Given the description of an element on the screen output the (x, y) to click on. 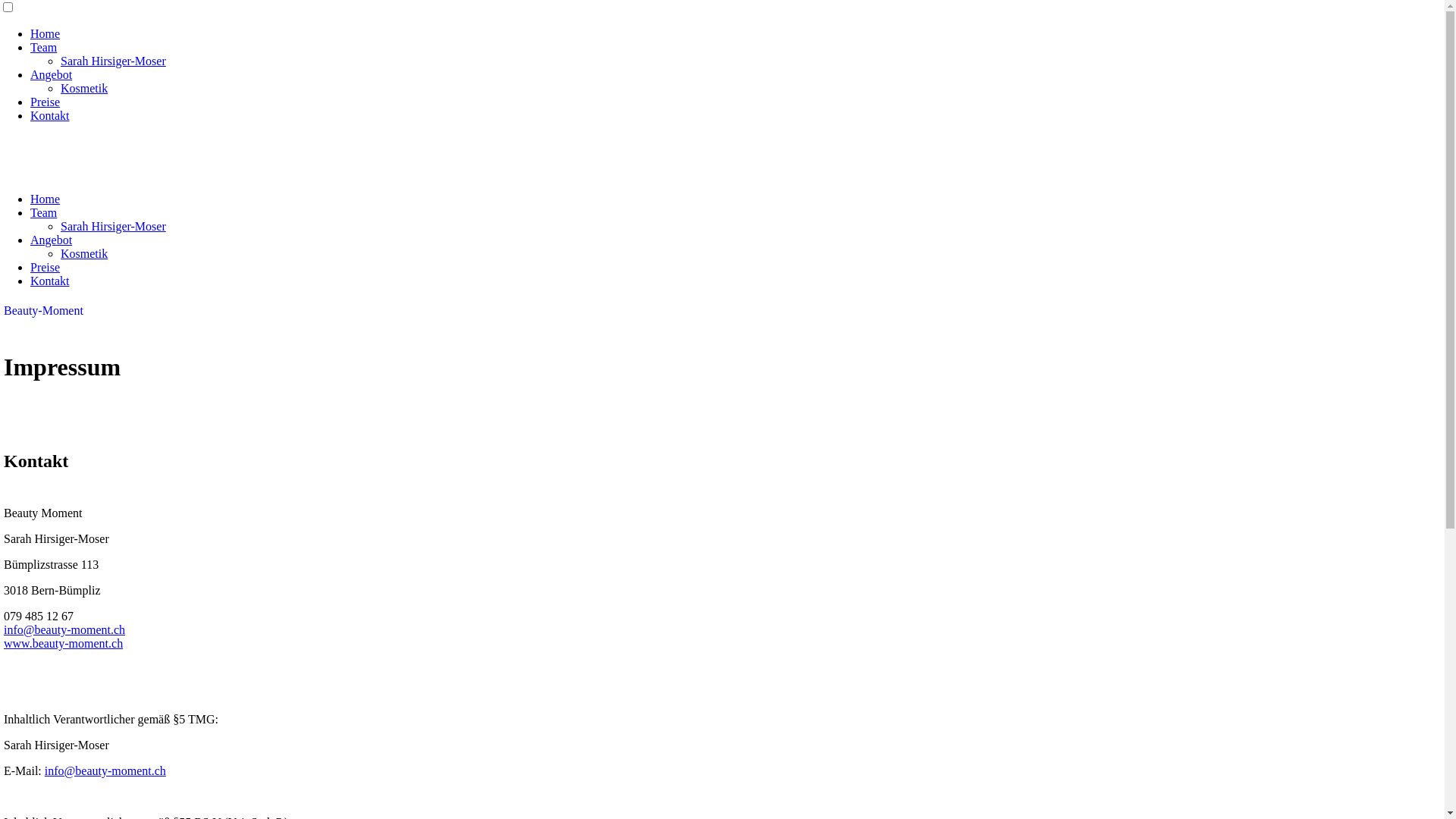
www.beauty-moment.ch Element type: text (62, 643)
Beauty-Moment Element type: text (43, 310)
Sarah Hirsiger-Moser Element type: text (113, 225)
Kosmetik Element type: text (83, 253)
Preise Element type: text (44, 266)
Kontakt Element type: text (49, 115)
Kontakt Element type: text (49, 280)
Team Element type: text (43, 212)
Home Element type: text (44, 198)
Sarah Hirsiger-Moser Element type: text (113, 60)
Angebot Element type: text (51, 239)
Kosmetik Element type: text (83, 87)
info@beauty-moment.ch Element type: text (105, 770)
info@beauty-moment.ch Element type: text (64, 629)
Preise Element type: text (44, 101)
Home Element type: text (44, 33)
Team Element type: text (43, 46)
Angebot Element type: text (51, 74)
